Given the description of an element on the screen output the (x, y) to click on. 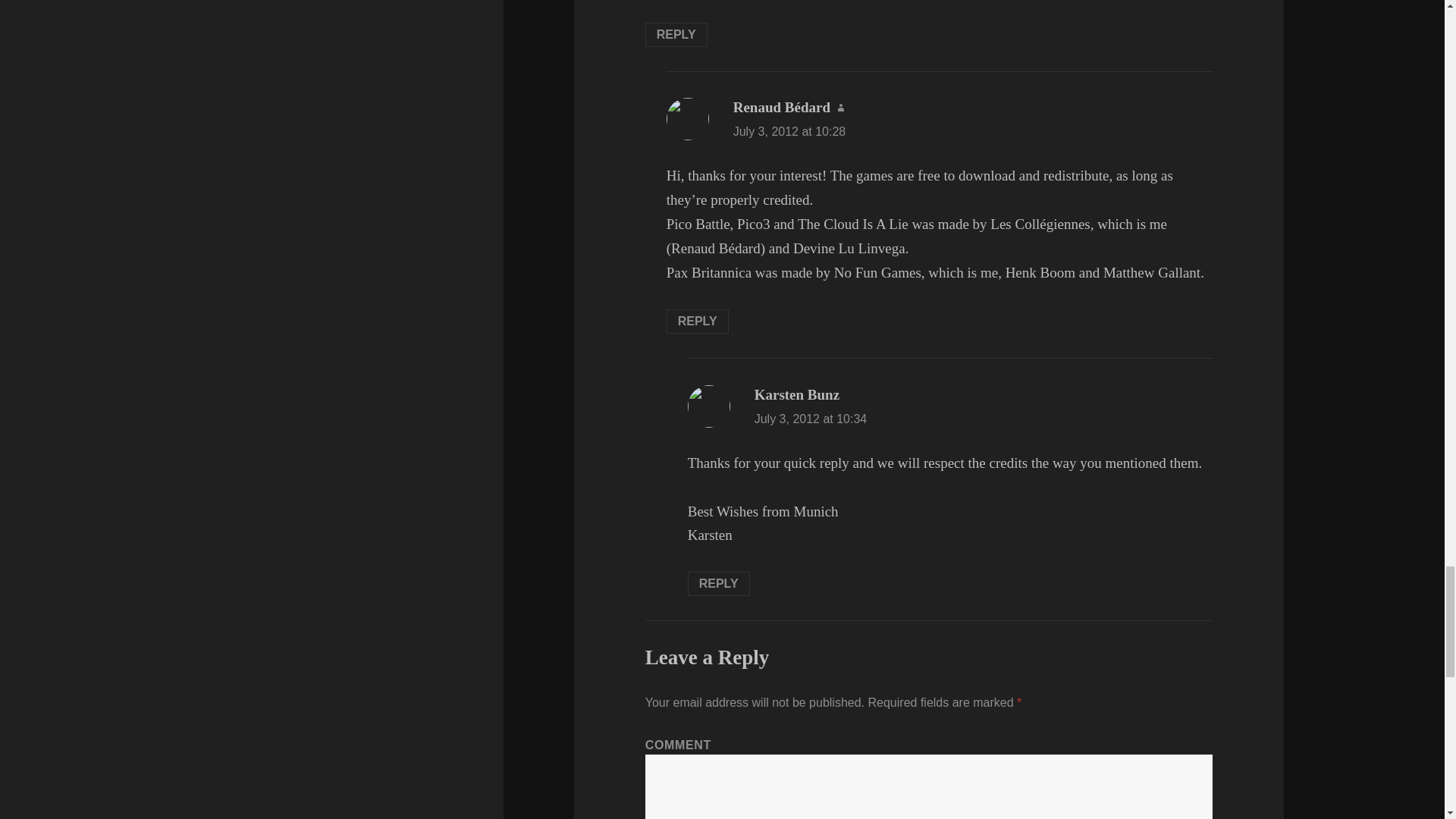
July 3, 2012 at 10:34 (810, 418)
REPLY (718, 583)
REPLY (697, 321)
Karsten Bunz (797, 394)
July 3, 2012 at 10:28 (789, 131)
REPLY (676, 34)
